Given the description of an element on the screen output the (x, y) to click on. 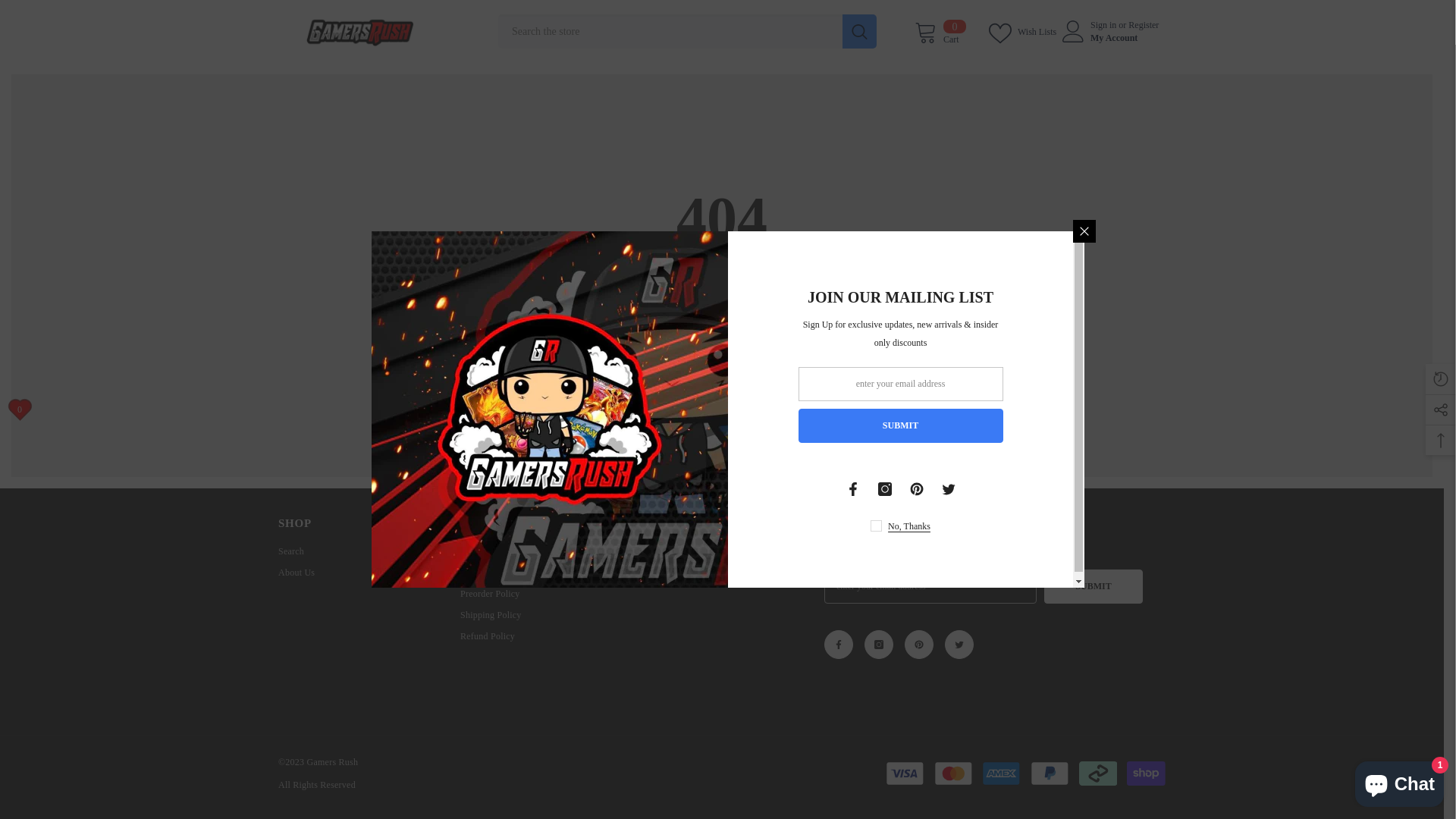
Privacy Policy Element type: text (488, 572)
Facebook Element type: text (853, 489)
Search Element type: text (291, 550)
Wish Lists Element type: text (1023, 31)
Contact Us Element type: text (663, 550)
Twitter Element type: text (948, 489)
Shopify online store chat Element type: hover (1399, 780)
About Us Element type: text (296, 572)
Terms Of Service Element type: text (493, 550)
Facebook Element type: text (838, 644)
0
0 items
Cart Element type: text (940, 31)
Pinterest Element type: text (918, 644)
SUBMIT Element type: text (1093, 586)
Refund Policy Element type: text (487, 635)
Twitter Element type: text (958, 644)
Sign in Element type: text (1103, 24)
Preorder Policy Element type: text (490, 593)
Instagram Element type: text (878, 644)
Register Element type: text (1143, 24)
SUBMIT Element type: text (899, 425)
Pinterest Element type: text (916, 489)
Instagram Element type: text (884, 489)
Shipping Policy Element type: text (490, 614)
Return to Store Element type: text (721, 354)
